Given the description of an element on the screen output the (x, y) to click on. 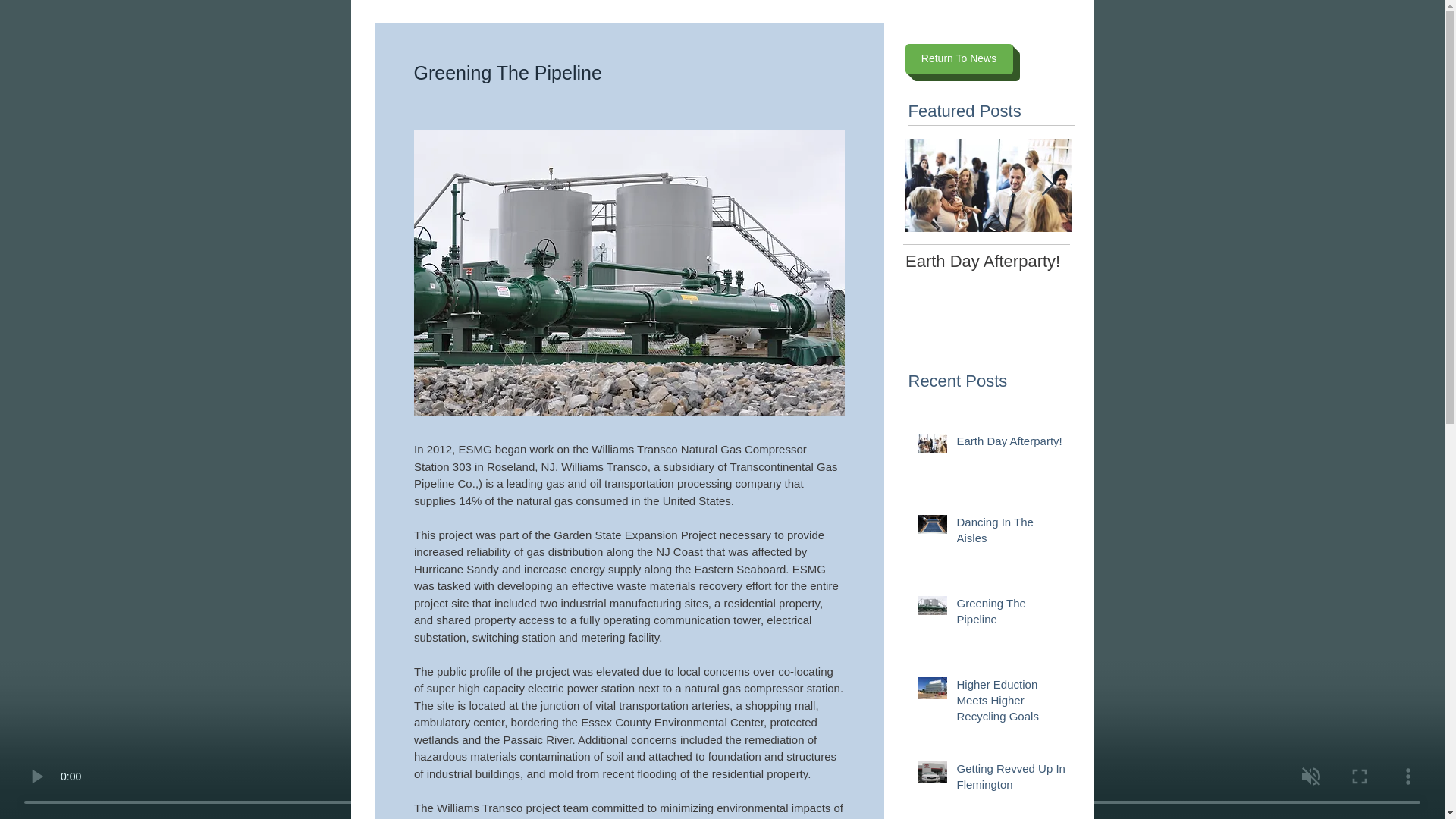
Higher Eduction Meets Higher Recycling Goals (1010, 703)
Dancing In The Aisles (1155, 261)
Earth Day Afterparty! (988, 245)
Earth Day Afterparty! (988, 261)
Getting Revved Up In Flemington (1010, 444)
Greening The Pipeline (1010, 779)
Dancing In The Aisles (988, 245)
Return To News (1010, 614)
